Given the description of an element on the screen output the (x, y) to click on. 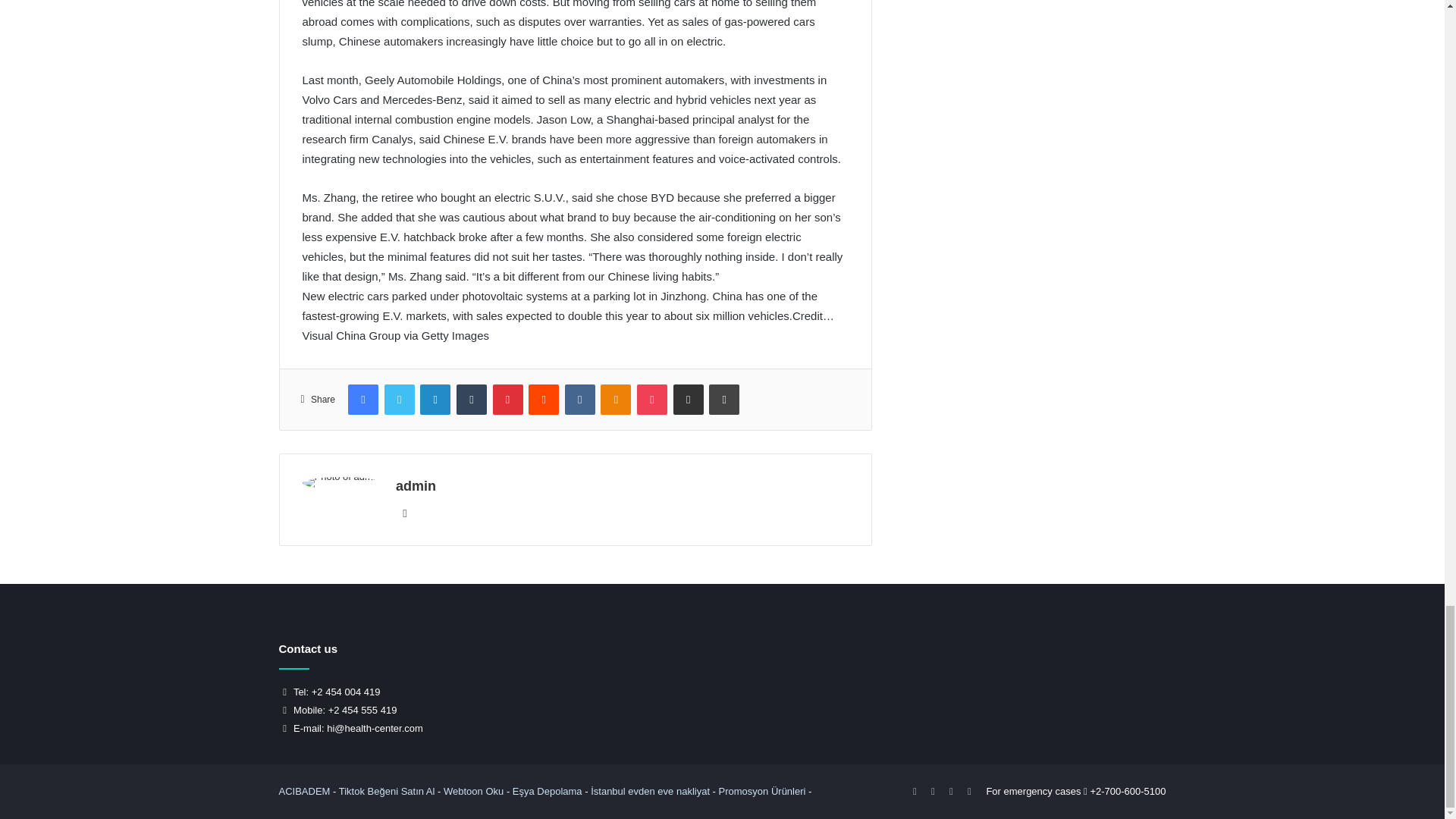
Odnoklassniki (614, 399)
LinkedIn (434, 399)
Reddit (543, 399)
VKontakte (579, 399)
Twitter (399, 399)
Tumblr (471, 399)
Pinterest (507, 399)
Facebook (362, 399)
